Given the description of an element on the screen output the (x, y) to click on. 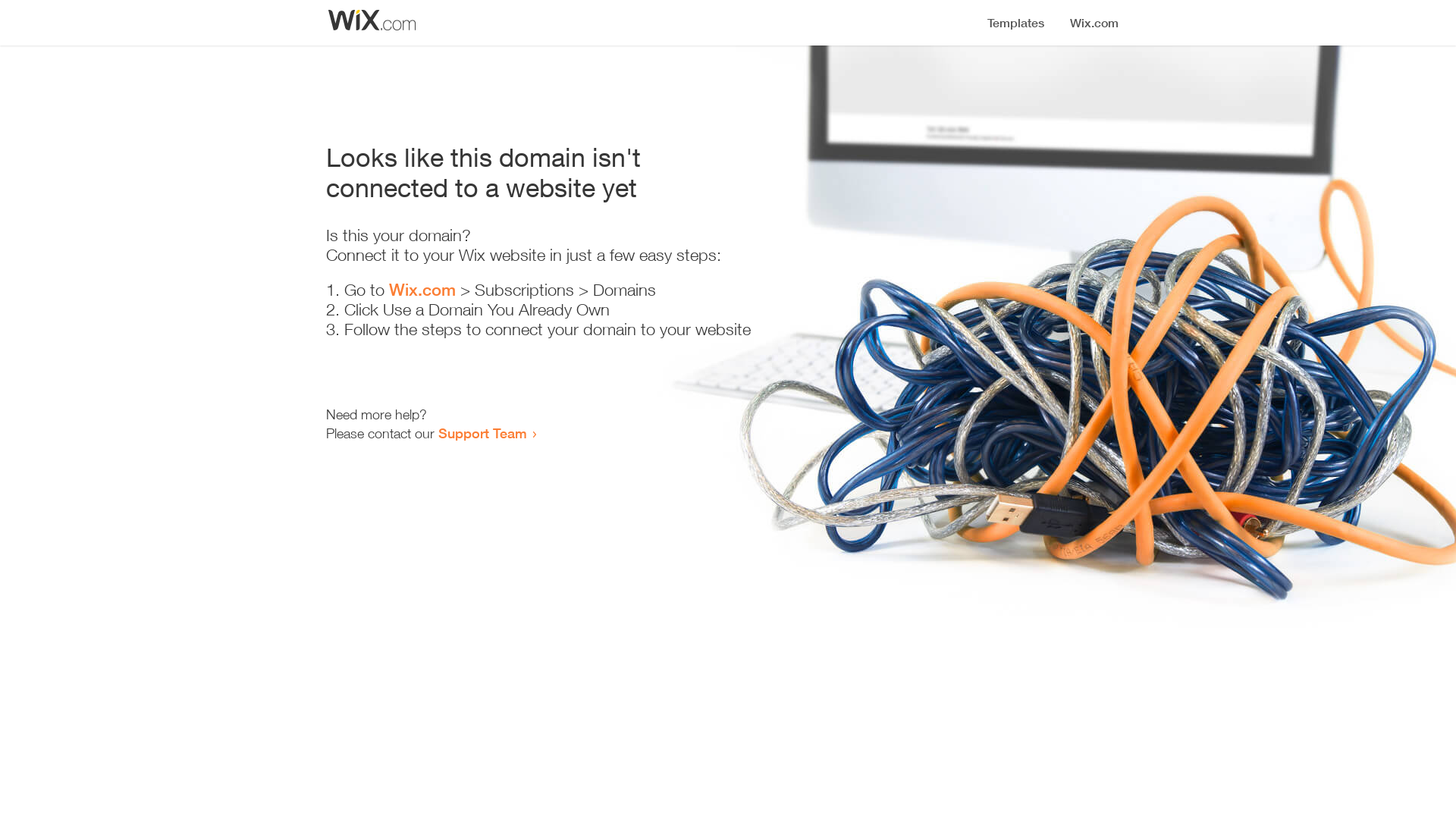
Support Team Element type: text (482, 432)
Wix.com Element type: text (422, 289)
